Given the description of an element on the screen output the (x, y) to click on. 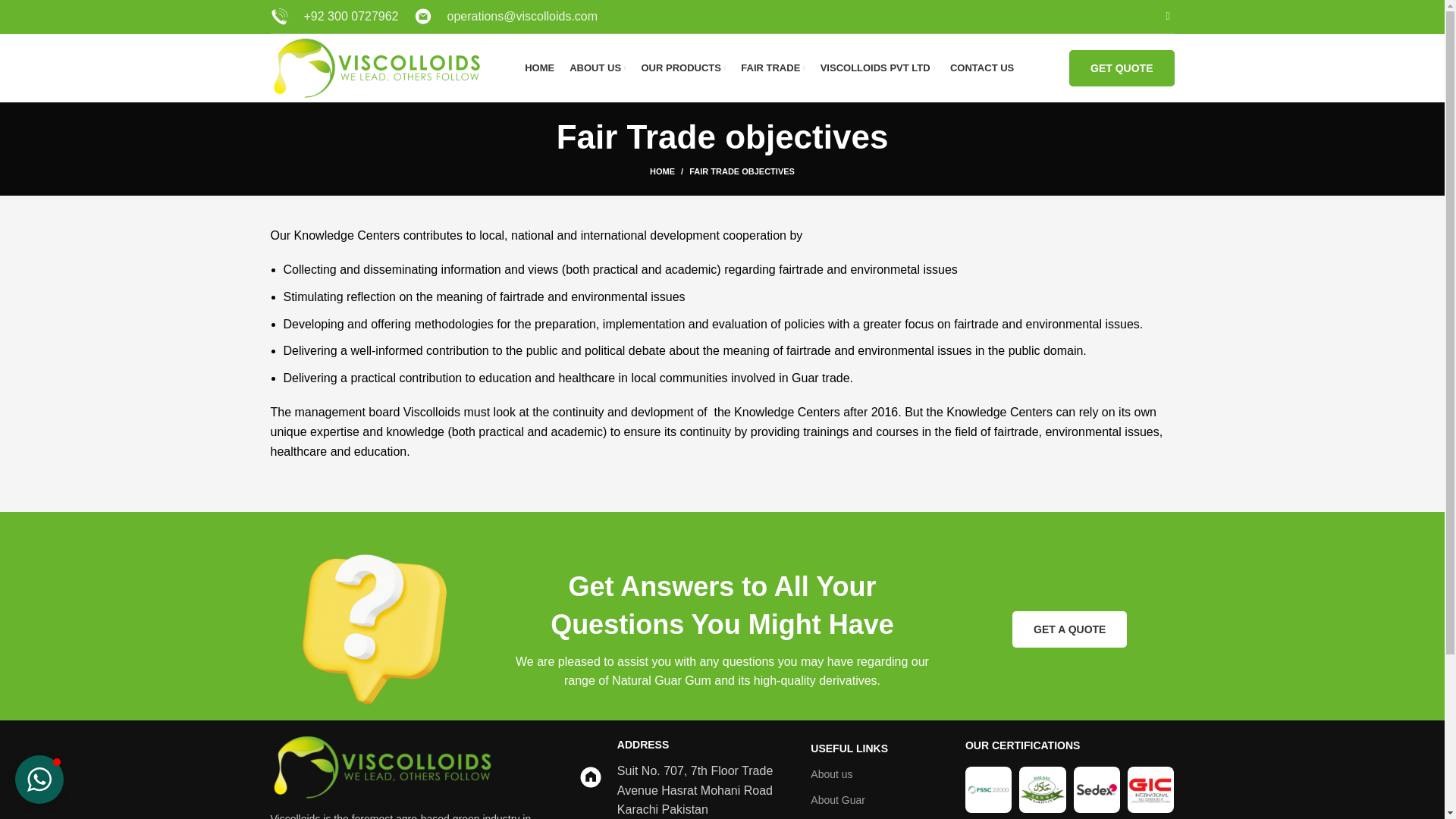
VISCOLLOIDS PVT LTD (877, 68)
GET A QUOTE (1068, 628)
FAIR TRADE (773, 68)
EXPORT (876, 816)
About Guar (876, 800)
CONTACT US (981, 68)
About us (876, 774)
HOME (668, 171)
sedex final (1096, 789)
FSSC-logo (988, 789)
